Given the description of an element on the screen output the (x, y) to click on. 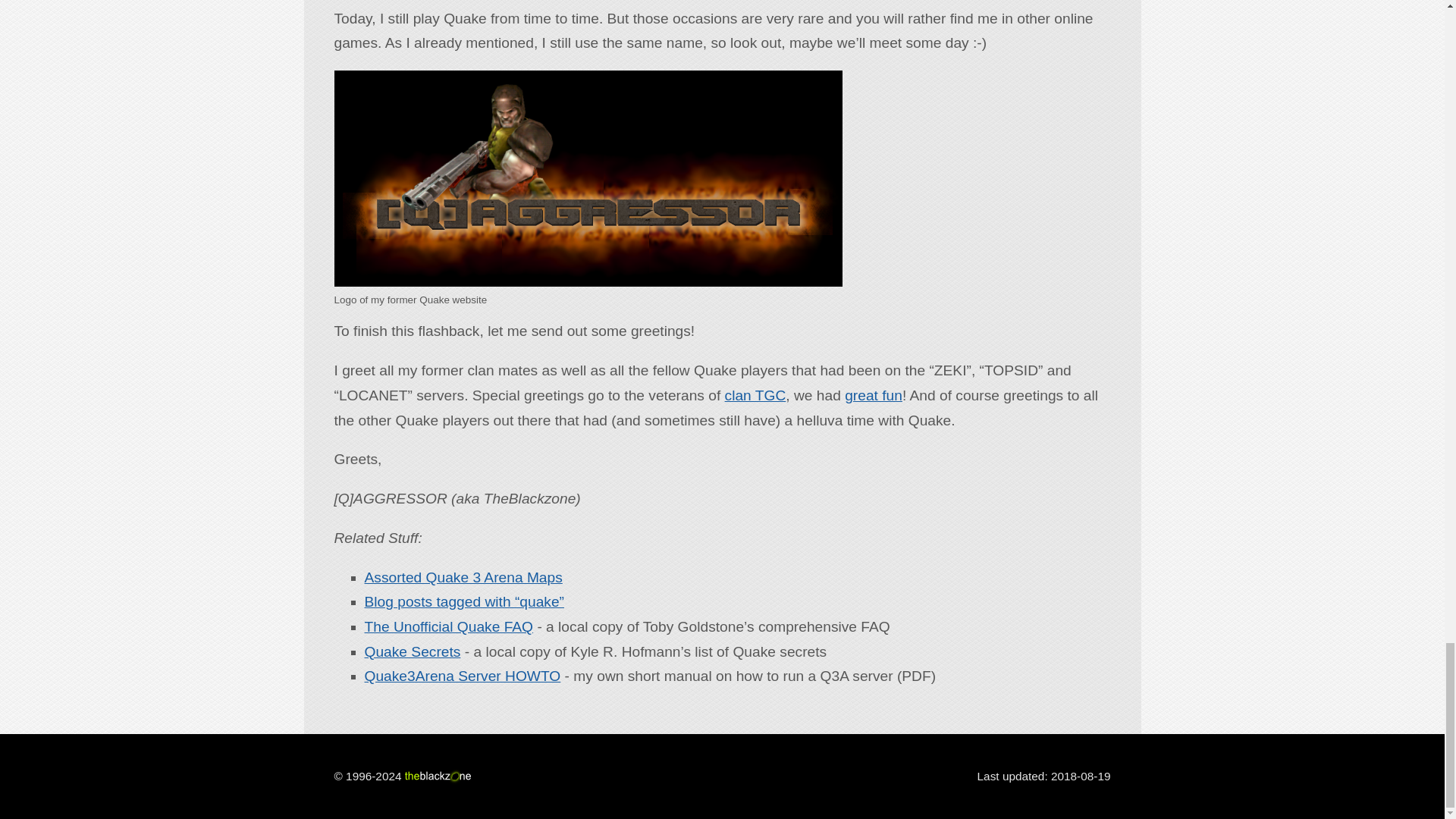
Assorted Quake 3 Arena Maps (463, 577)
Logo of my former Quake website (587, 178)
The Unofficial Quake FAQ (448, 626)
Quake3Arena Server HOWTO (462, 675)
Quake Secrets (412, 651)
great fun (873, 395)
clan TGC (755, 395)
